Given the description of an element on the screen output the (x, y) to click on. 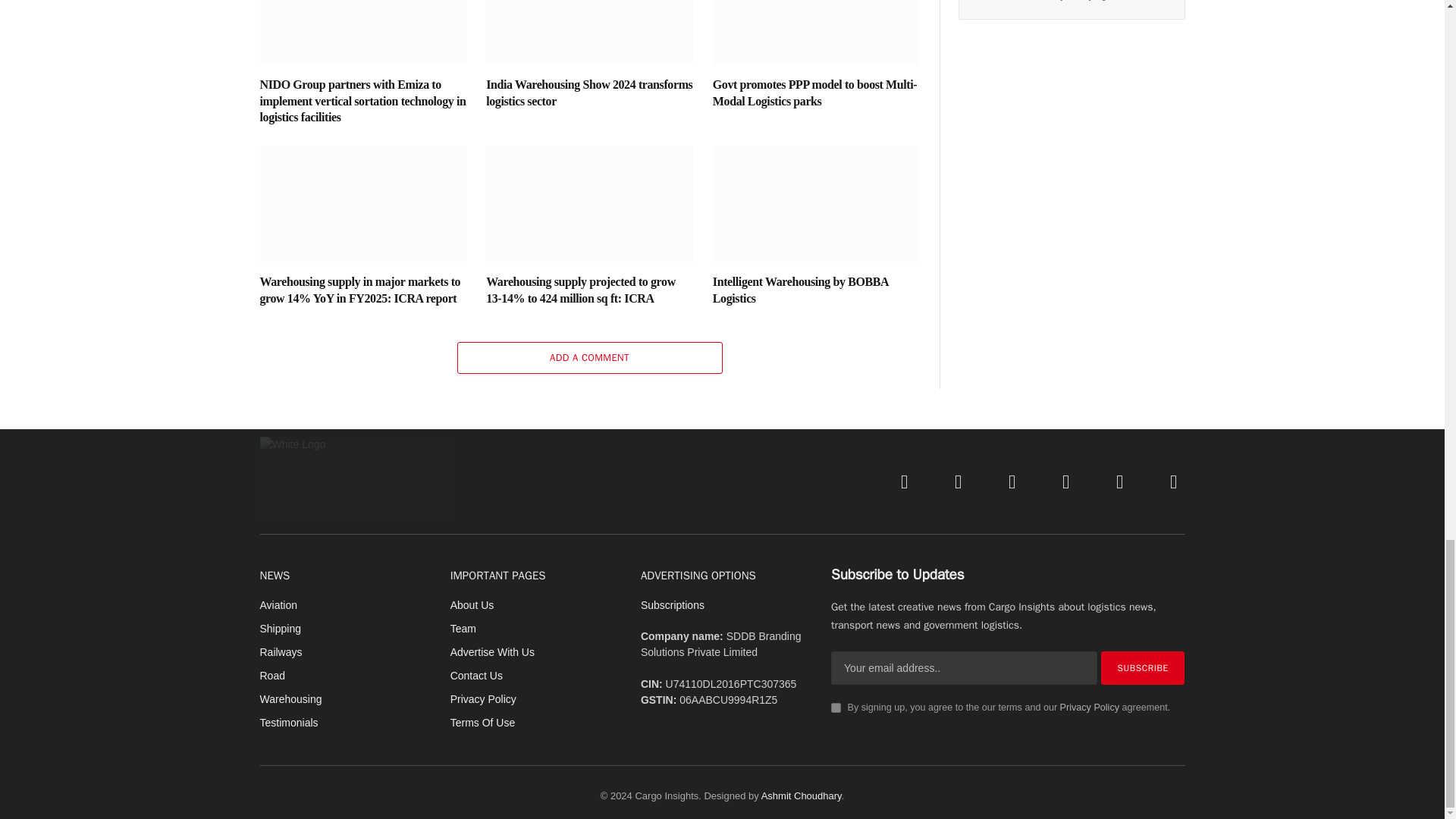
Subscribe (1142, 667)
on (836, 707)
